Given the description of an element on the screen output the (x, y) to click on. 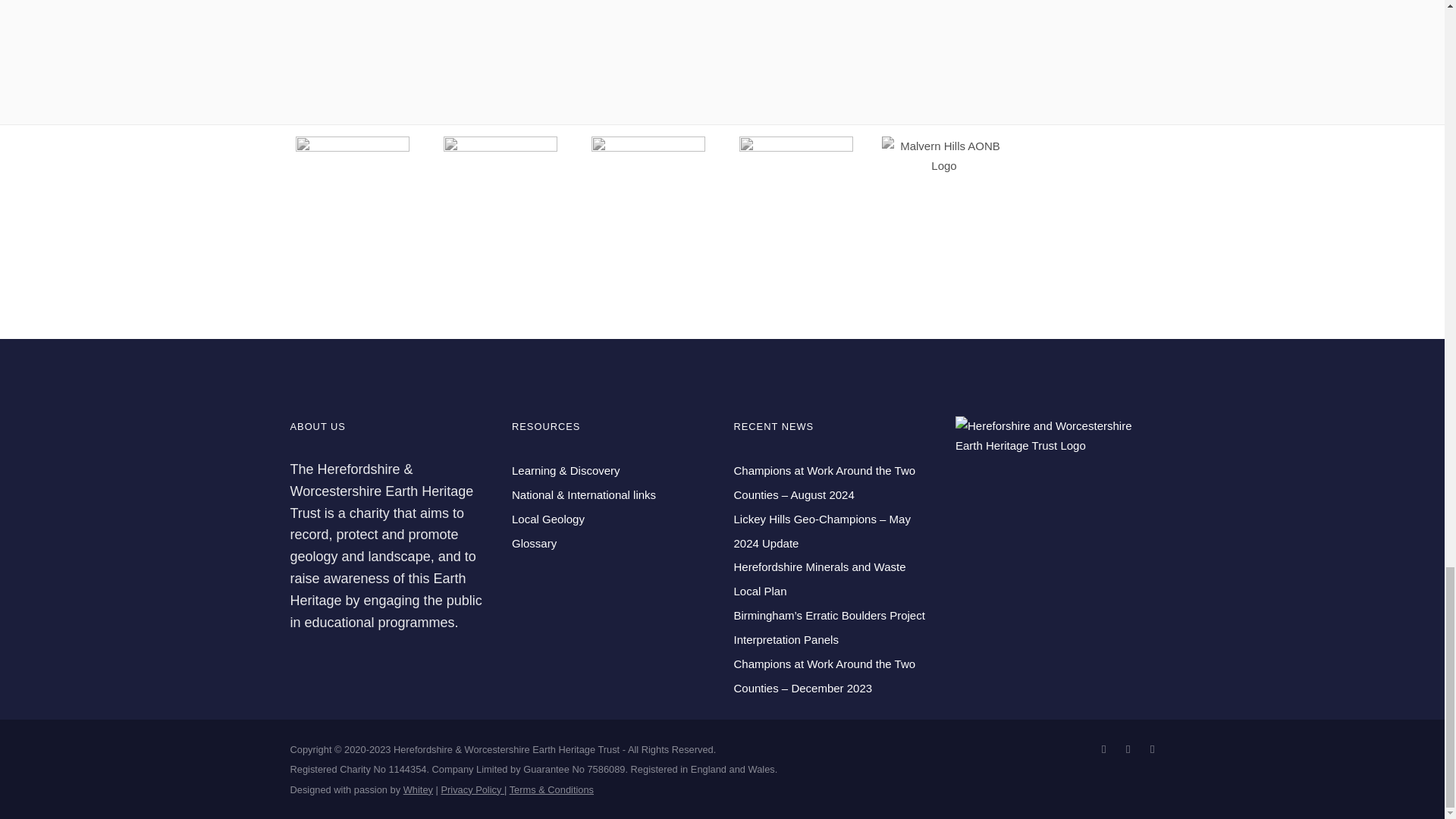
national-heritage-fund (352, 193)
university-worcester-logo (500, 193)
herefordshire-council (796, 193)
malvern-hills-aonb (943, 155)
worcestershire-county-council-logo (647, 193)
